Given the description of an element on the screen output the (x, y) to click on. 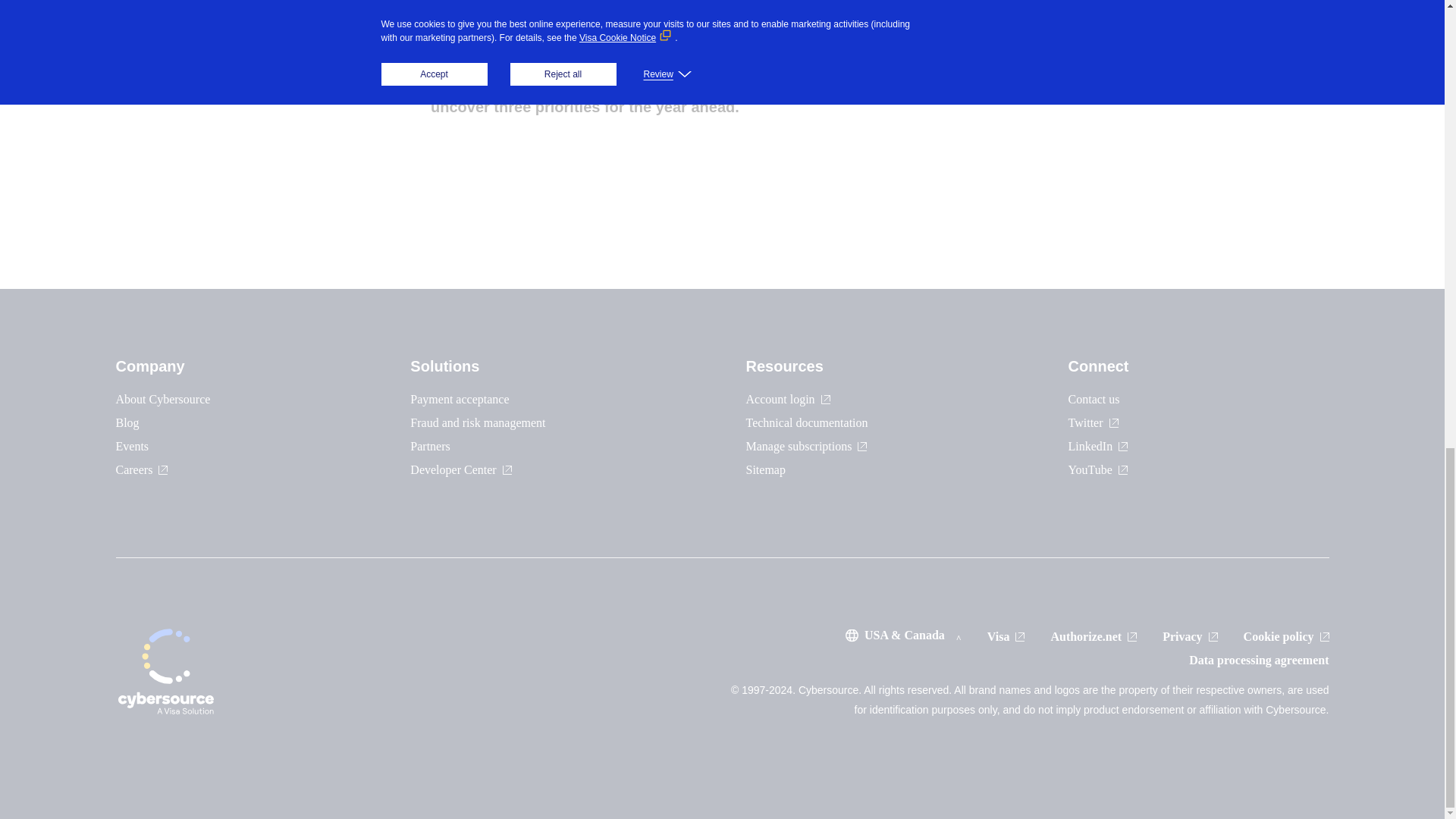
Manage subscriptions (806, 445)
Sitemap (765, 469)
Events (131, 445)
Account login (787, 399)
Technical documentation (806, 422)
Twitter (1093, 422)
Fraud and risk management (477, 422)
Developer Center (460, 469)
About Cybersource (162, 399)
Contact us (1093, 399)
Partners (429, 445)
Blog (126, 422)
LinkedIn (1098, 445)
Careers (141, 469)
YouTube (1097, 469)
